Given the description of an element on the screen output the (x, y) to click on. 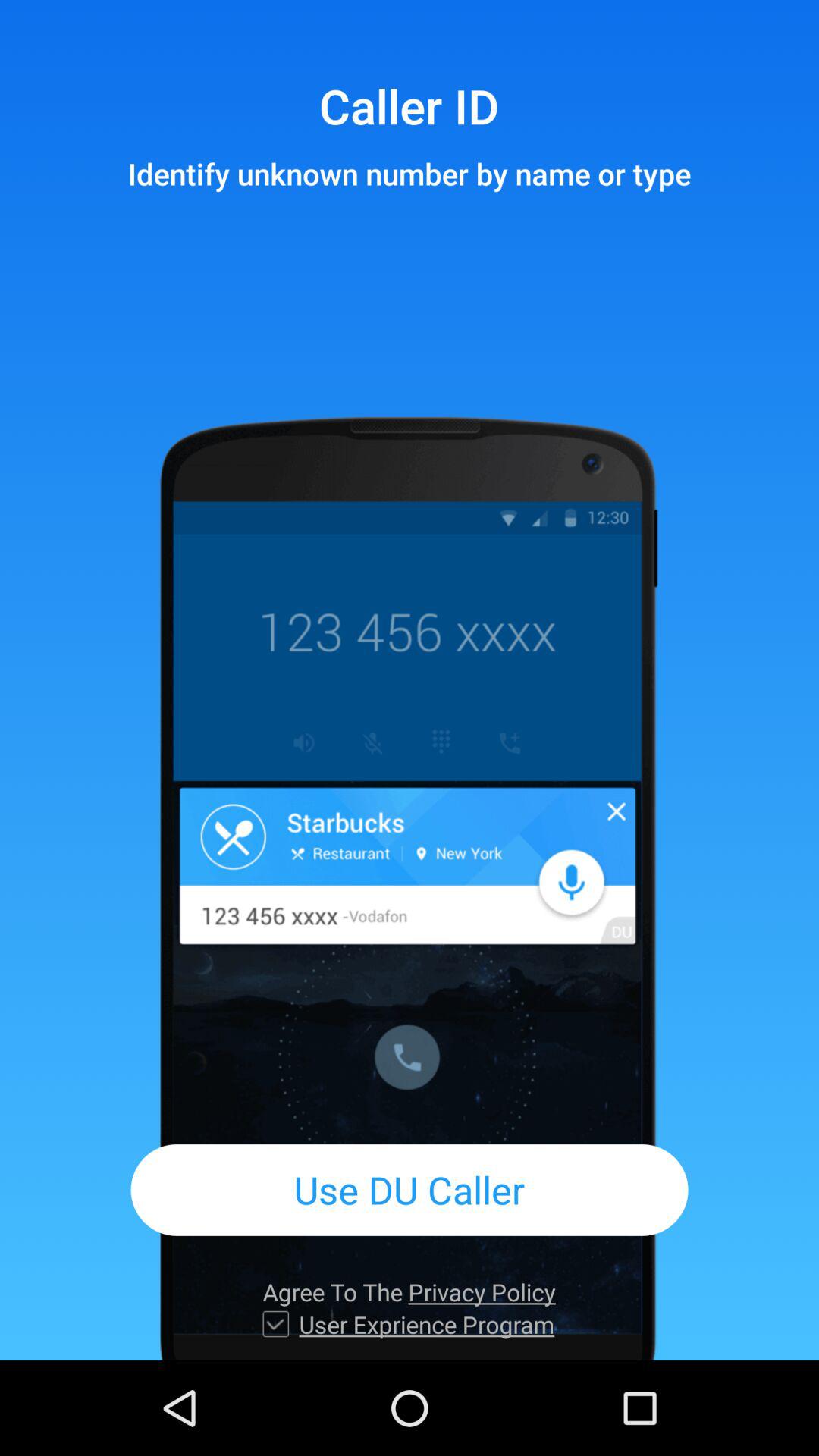
turn on the app below agree to the item (426, 1324)
